Given the description of an element on the screen output the (x, y) to click on. 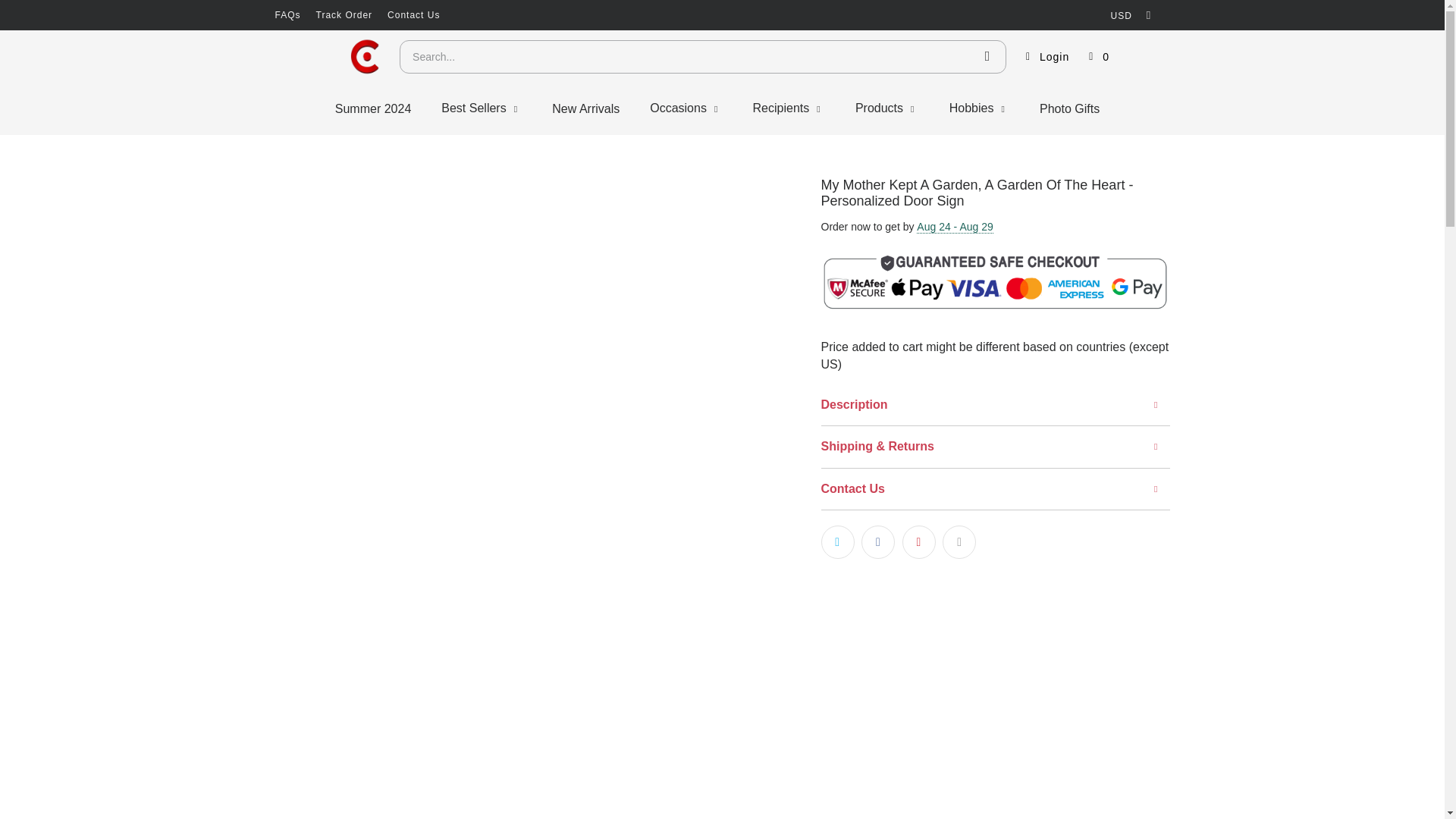
USD (1126, 15)
My Account  (1045, 56)
Share this on Twitter (837, 541)
FAQs (287, 14)
Login (1045, 56)
Track Order (343, 14)
Share this on Pinterest (919, 541)
Contact Us (413, 14)
0 (1098, 56)
Summer 2024 (373, 108)
